Given the description of an element on the screen output the (x, y) to click on. 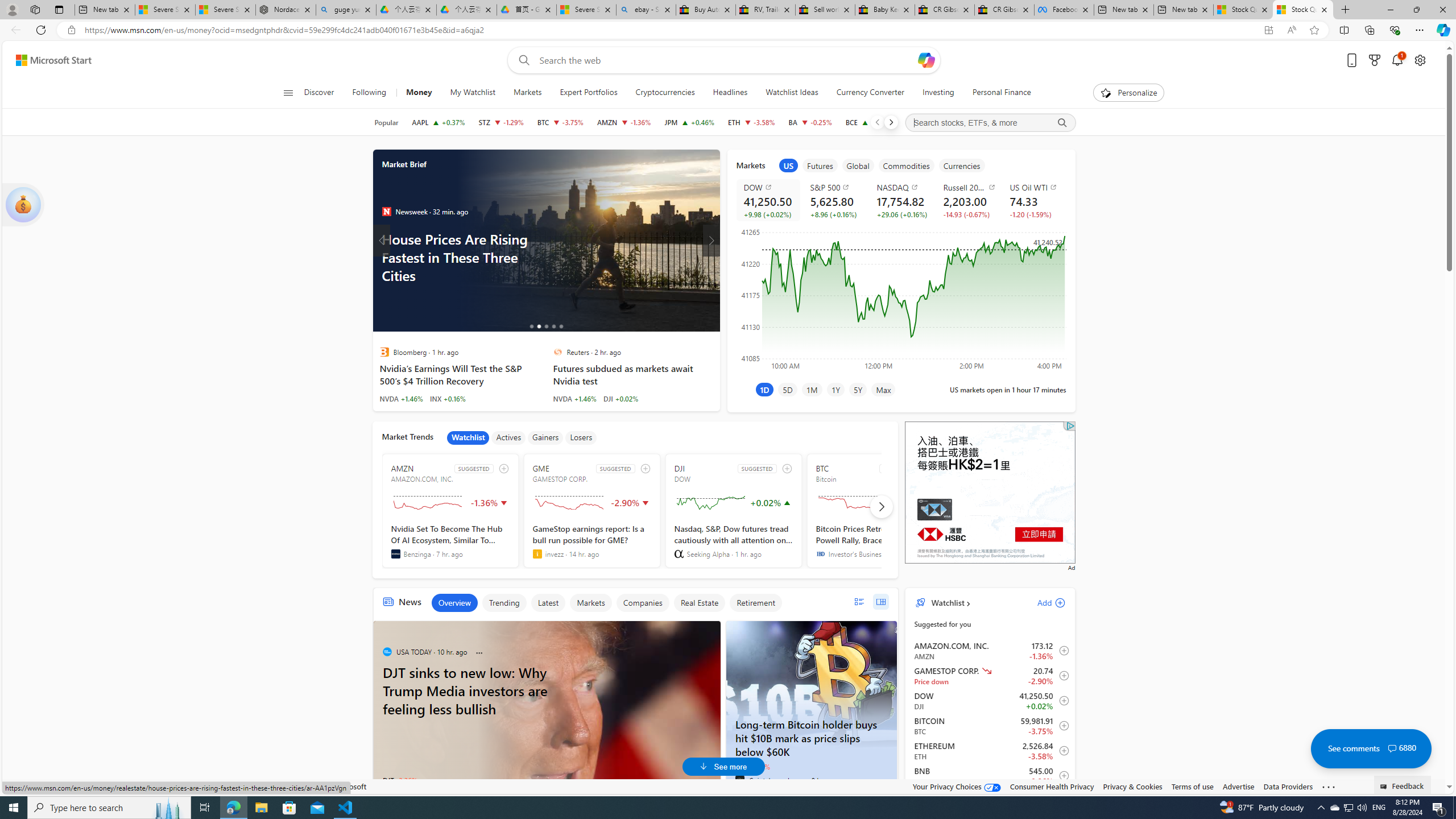
DJT -3.36% (399, 779)
invezz (536, 553)
BTC Bitcoin decrease 59,981.91 -2,246.92 -3.75% (559, 122)
Enter your search term (726, 59)
Watchlist Ideas (792, 92)
Advertise (1238, 785)
Investor's Business Daily (820, 553)
Microsoft rewards (1374, 60)
Add to Watchlist (1061, 775)
